Given the description of an element on the screen output the (x, y) to click on. 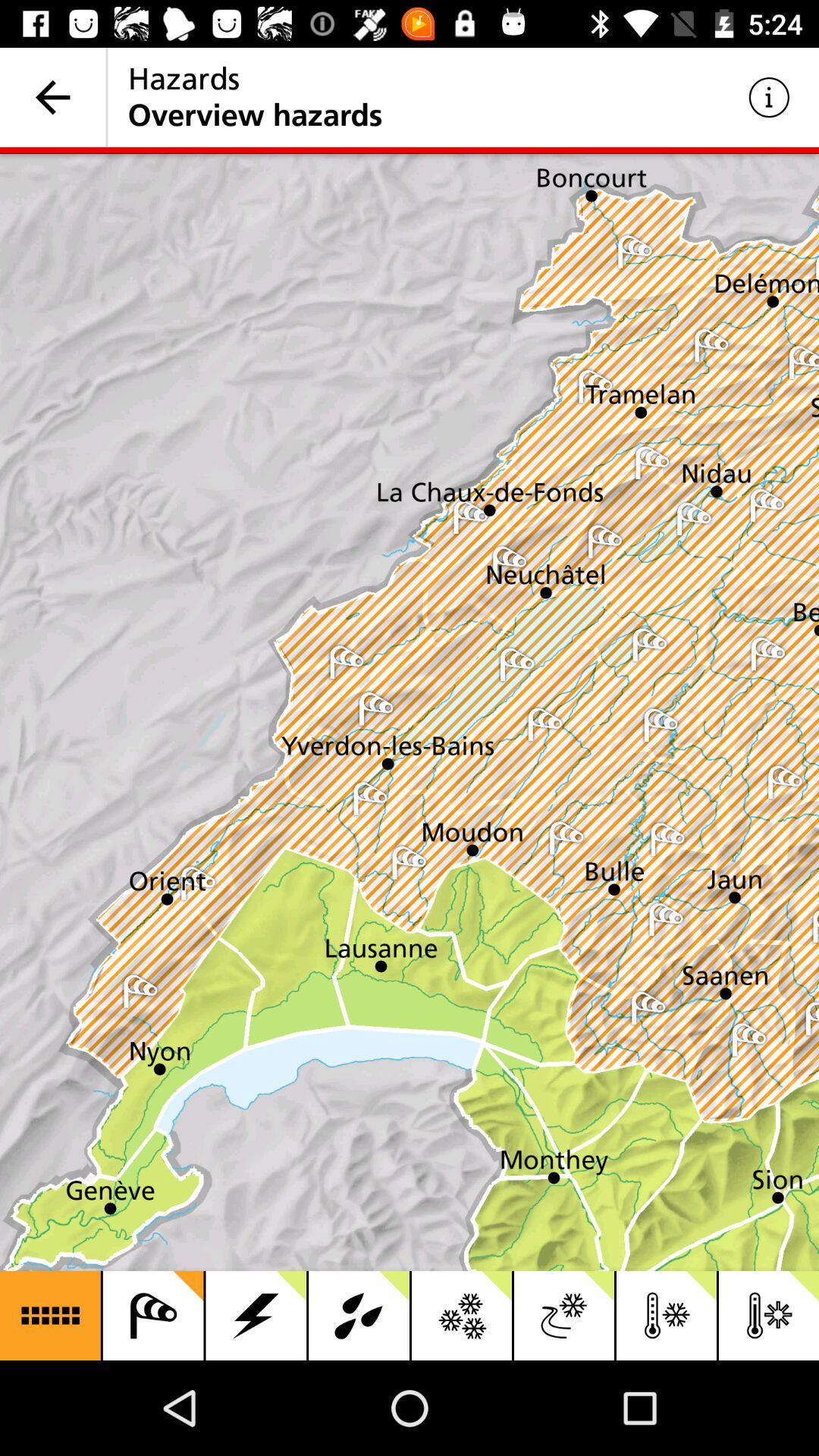
select item next to hazards item (52, 97)
